Given the description of an element on the screen output the (x, y) to click on. 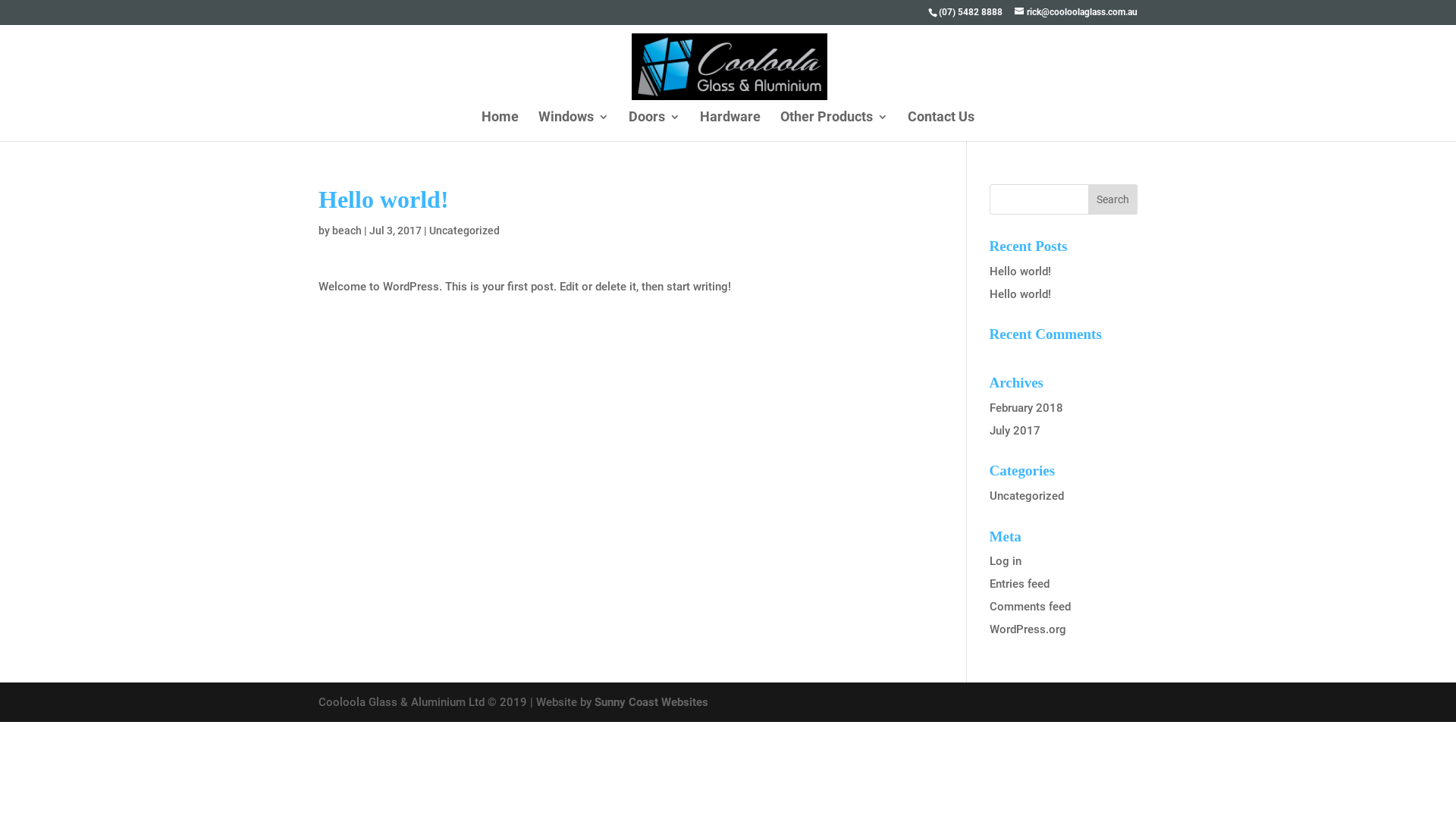
Other Products Element type: text (834, 124)
Comments feed Element type: text (1029, 606)
Hello world! Element type: text (1020, 294)
Uncategorized Element type: text (464, 230)
Log in Element type: text (1005, 560)
July 2017 Element type: text (1014, 430)
February 2018 Element type: text (1026, 407)
Uncategorized Element type: text (1026, 495)
Hardware Element type: text (729, 124)
WordPress.org Element type: text (1027, 629)
Windows Element type: text (573, 124)
Doors Element type: text (654, 124)
rick@cooloolaglass.com.au Element type: text (1075, 11)
Hello world! Element type: text (1020, 271)
Sunny Coast Websites Element type: text (651, 702)
Entries feed Element type: text (1019, 583)
beach Element type: text (346, 230)
Search Element type: text (1112, 199)
Contact Us Element type: text (940, 124)
Home Element type: text (499, 124)
